Given the description of an element on the screen output the (x, y) to click on. 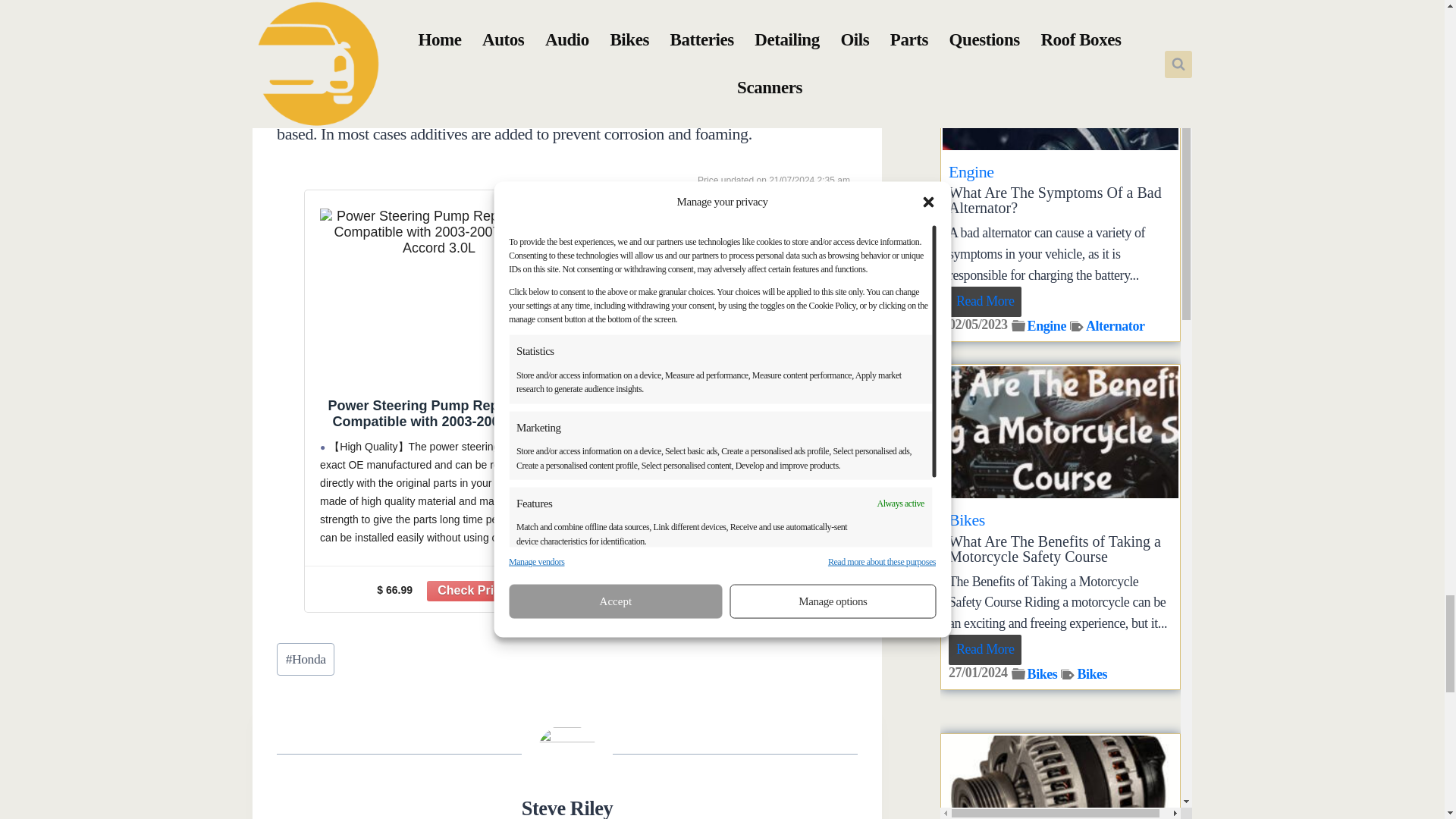
Honda (305, 658)
Posts by Steve Riley (566, 807)
